Given the description of an element on the screen output the (x, y) to click on. 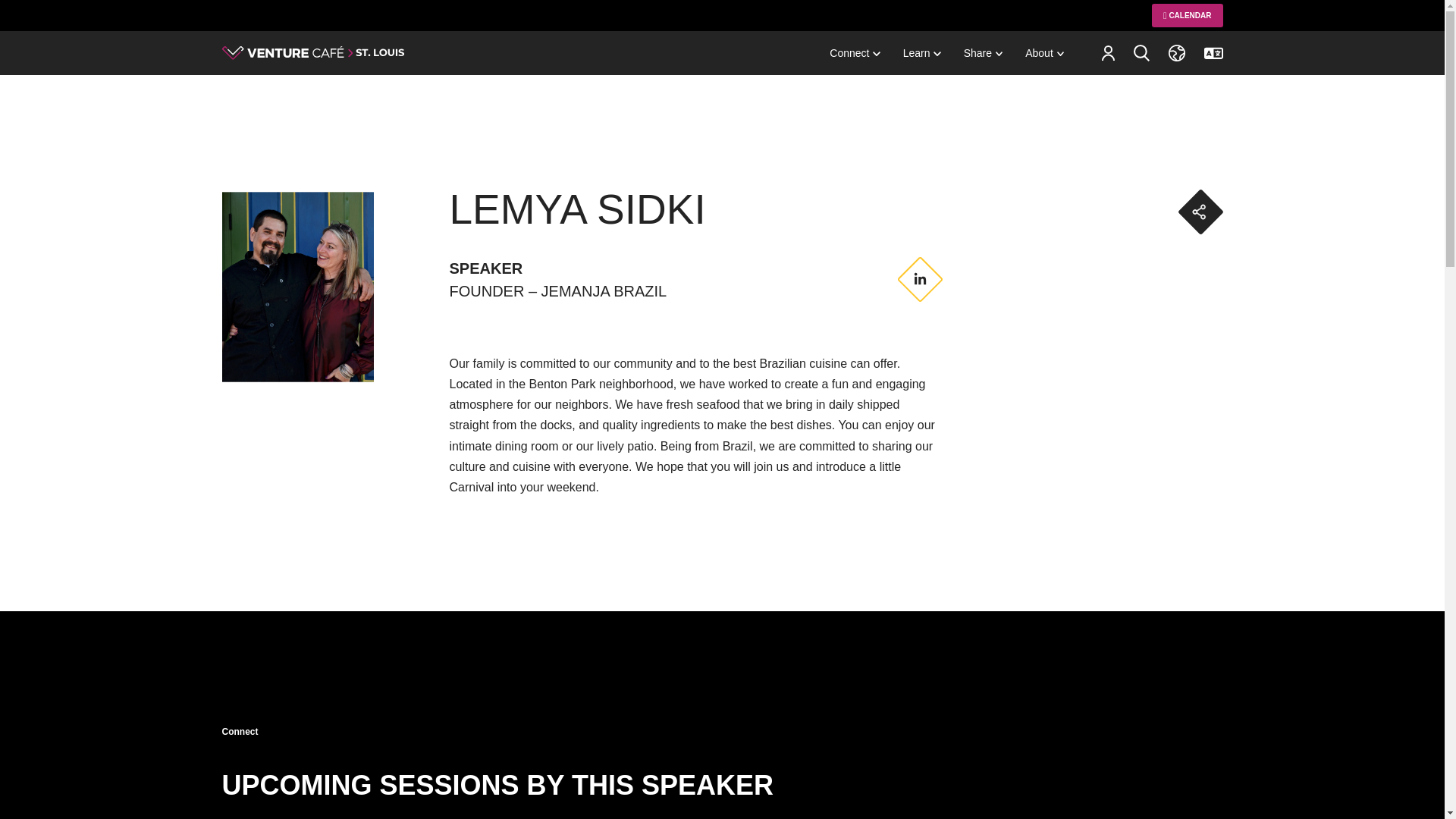
Search (1141, 52)
CALENDAR (1187, 15)
Share (983, 53)
Location (1176, 53)
Connect (854, 53)
